Given the description of an element on the screen output the (x, y) to click on. 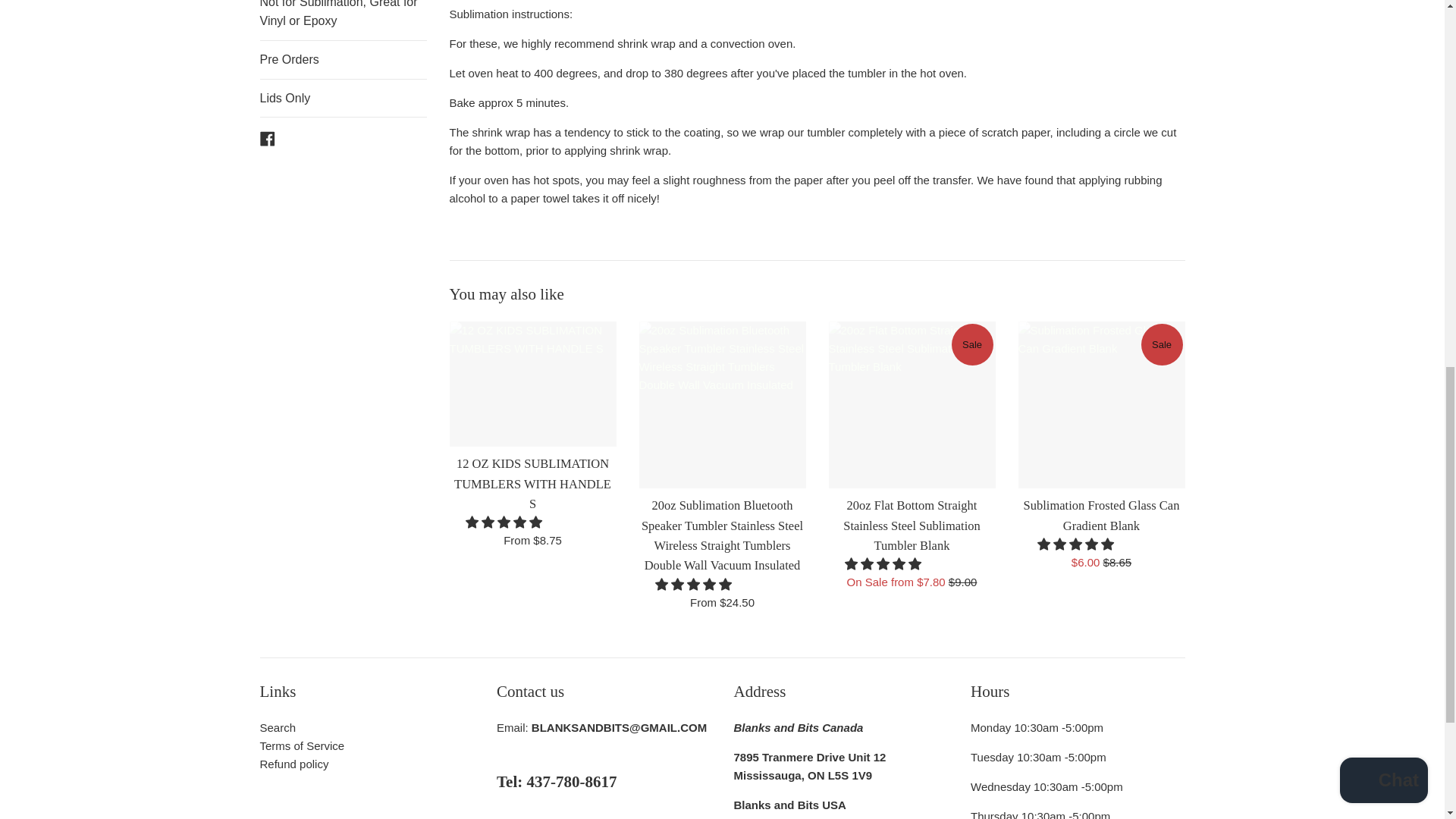
Pre Orders (342, 59)
Blanks and Bits on Facebook (267, 137)
Sublimation Frosted Glass Can Gradient Blank (1101, 404)
Not for Sublimation, Great for Vinyl or Epoxy (342, 20)
12 OZ KIDS SUBLIMATION TUMBLERS WITH HANDLE S (531, 383)
Lids Only (342, 98)
